Given the description of an element on the screen output the (x, y) to click on. 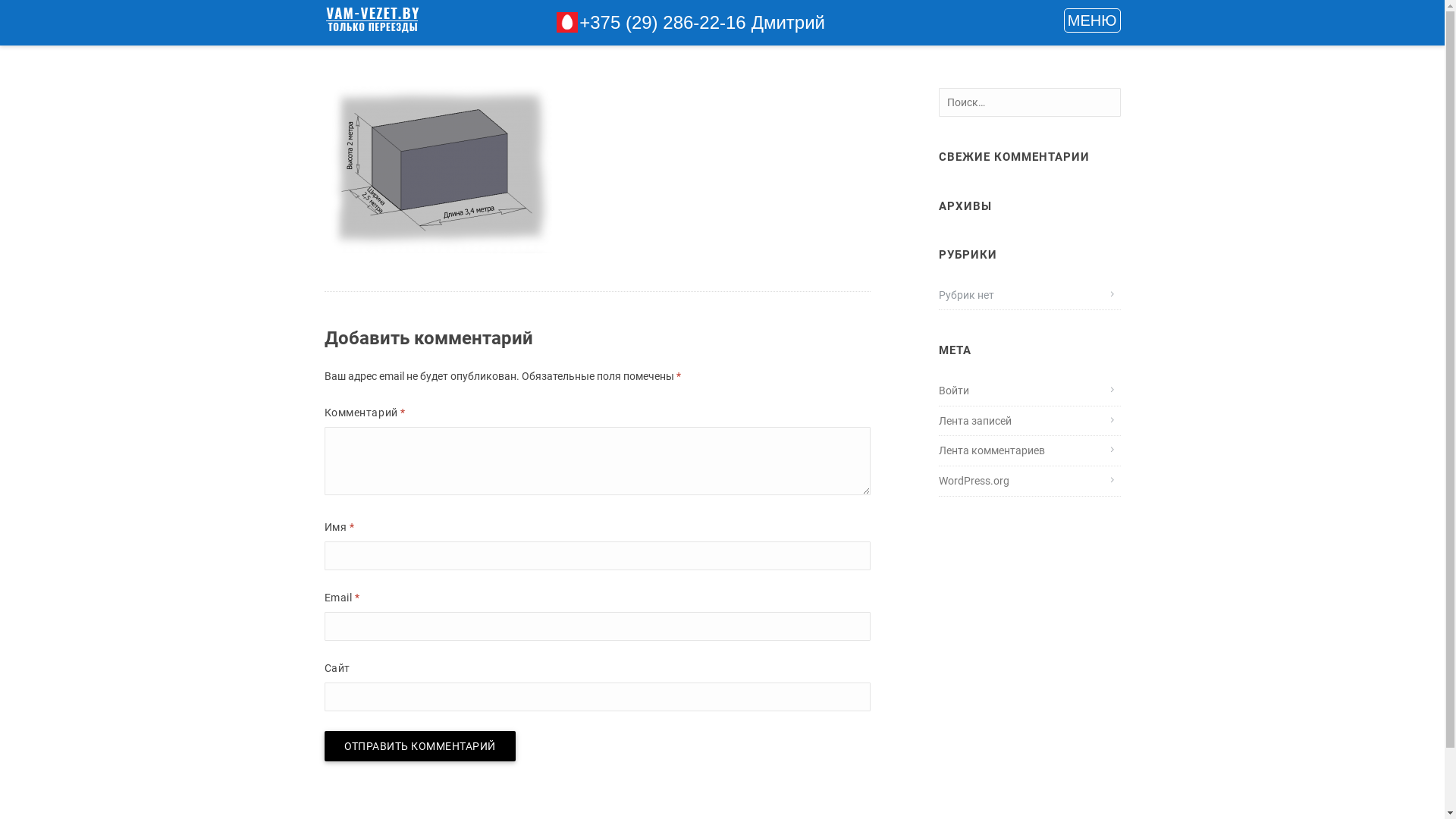
+375 (29) 286-22-16 Element type: text (662, 22)
WordPress.org Element type: text (973, 480)
